Given the description of an element on the screen output the (x, y) to click on. 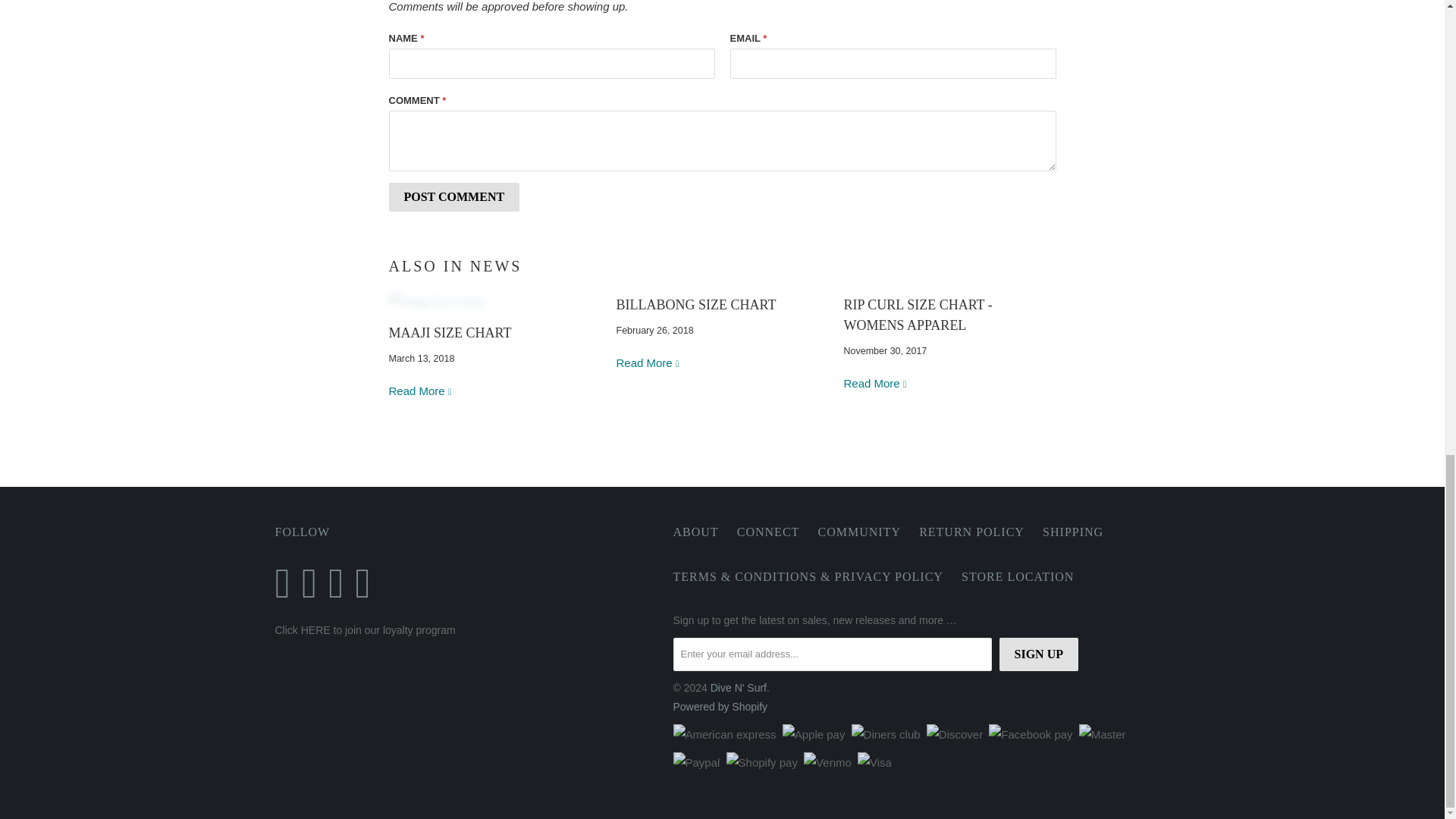
Billabong Size Chart (647, 362)
Maaji Size Chart (449, 332)
Post comment (453, 196)
Sign Up (1038, 654)
Rip Curl Size Chart - Womens Apparel (917, 314)
Maaji Size Chart (493, 301)
Maaji Size Chart (420, 390)
Rip Curl Size Chart - Womens Apparel (875, 382)
Billabong Size Chart (695, 304)
